Given the description of an element on the screen output the (x, y) to click on. 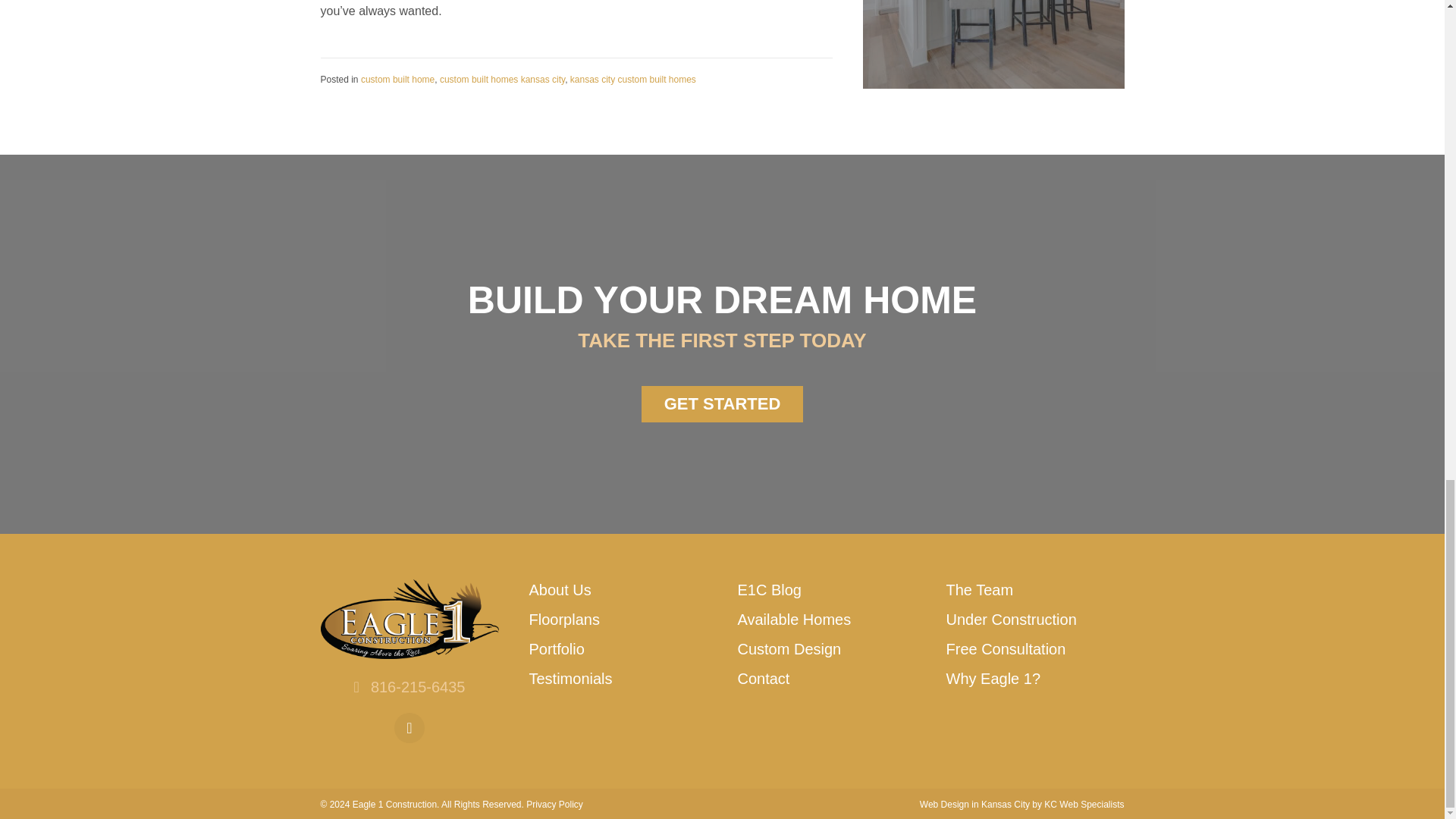
About Us (560, 589)
Floorplans (564, 619)
kansas city custom built homes (632, 79)
Portfolio (557, 648)
custom built home (397, 79)
GET STARTED (722, 403)
Available Homes (793, 619)
816-215-6435 (418, 687)
Eagle-1-Construction (408, 618)
custom built homes kansas city (501, 79)
Testimonials (570, 678)
E1C Blog (769, 589)
